Given the description of an element on the screen output the (x, y) to click on. 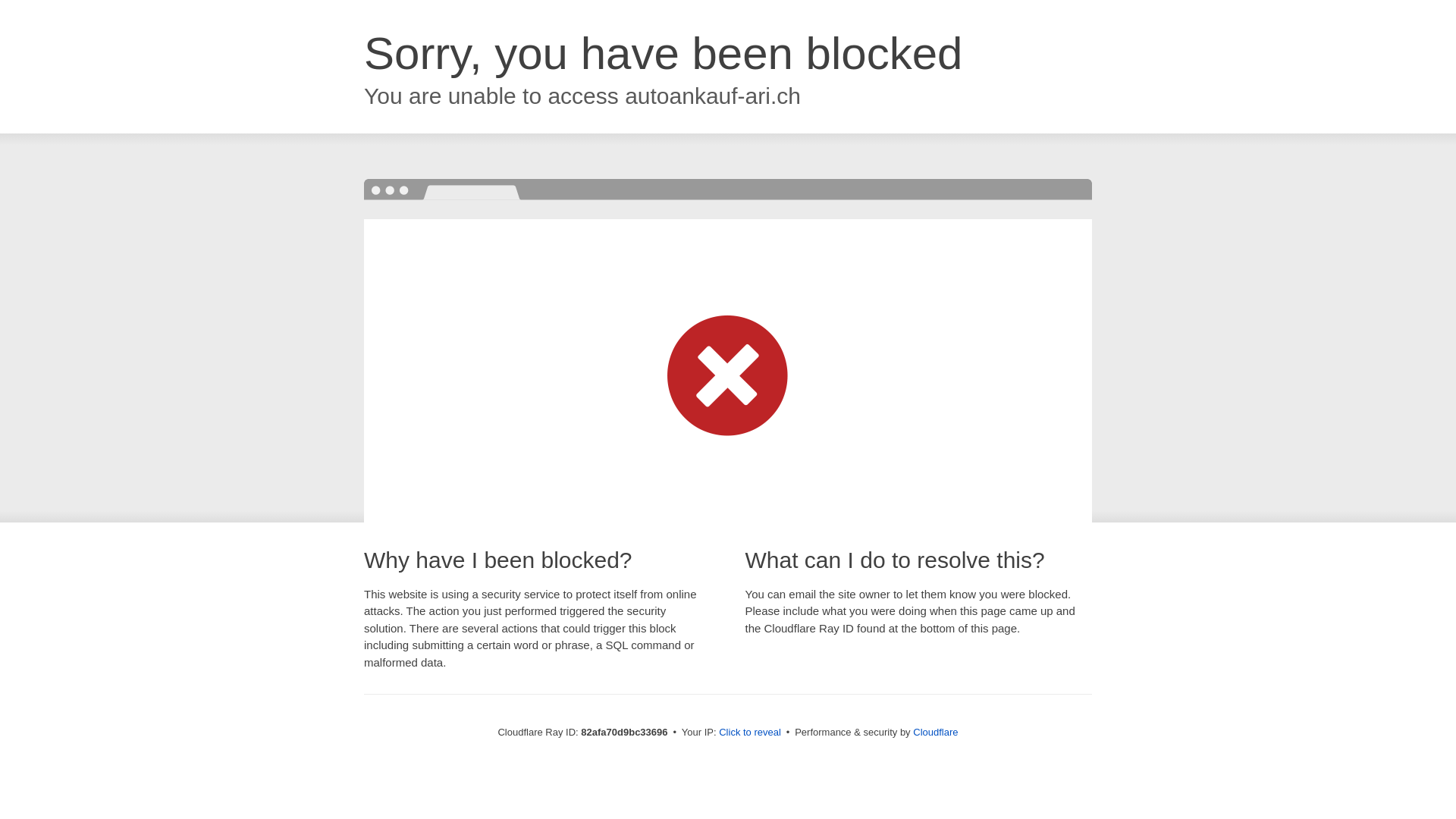
Cloudflare Element type: text (935, 731)
Click to reveal Element type: text (749, 732)
